Given the description of an element on the screen output the (x, y) to click on. 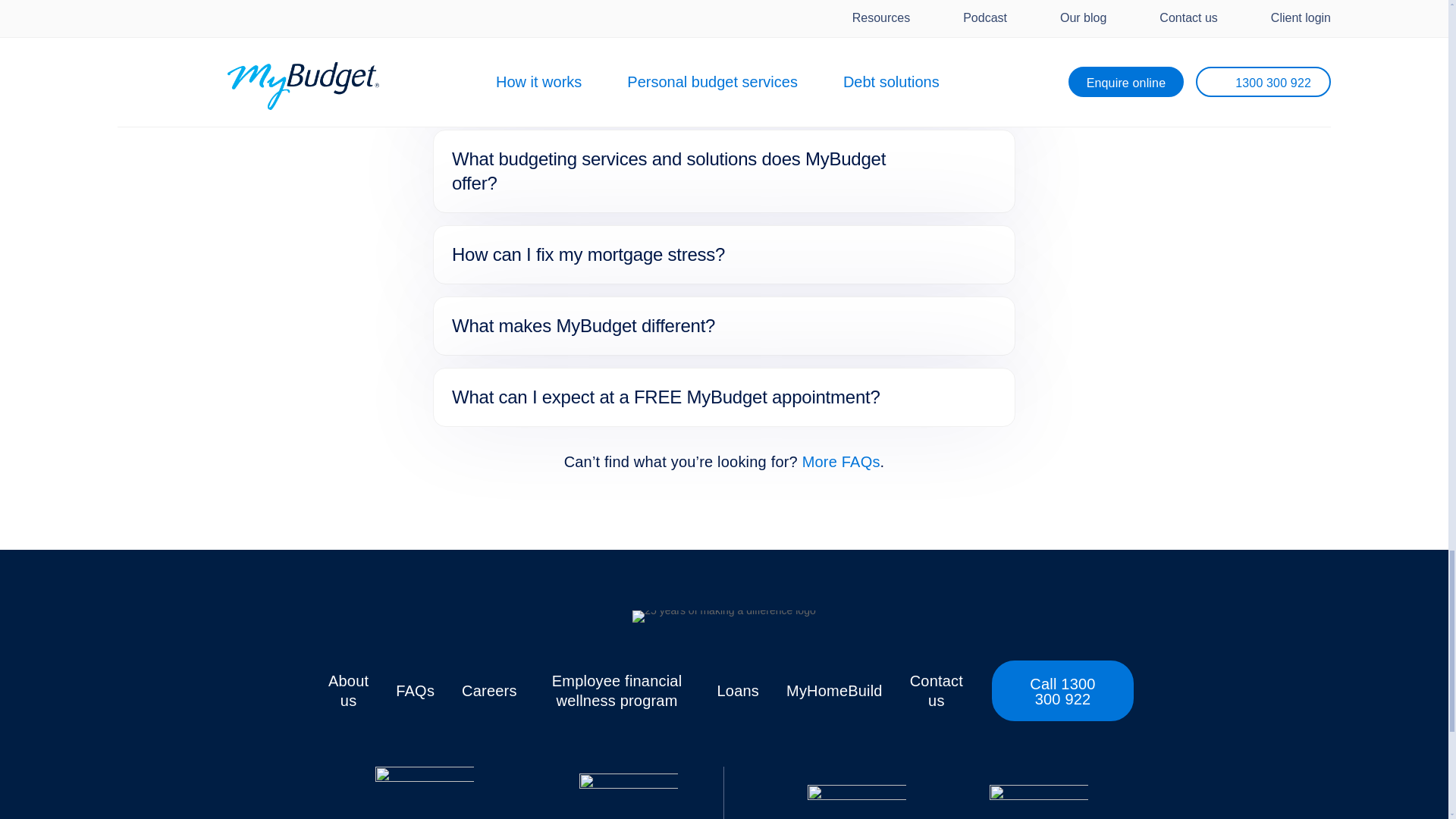
25-years-making-a-difference-logo (723, 616)
More FAQs (841, 461)
About us (348, 690)
my-budget-trustpilot (628, 796)
my-budget-apple-app-store (856, 799)
my-budget-google-play-store (1038, 799)
my-budget-product-review (423, 792)
